Given the description of an element on the screen output the (x, y) to click on. 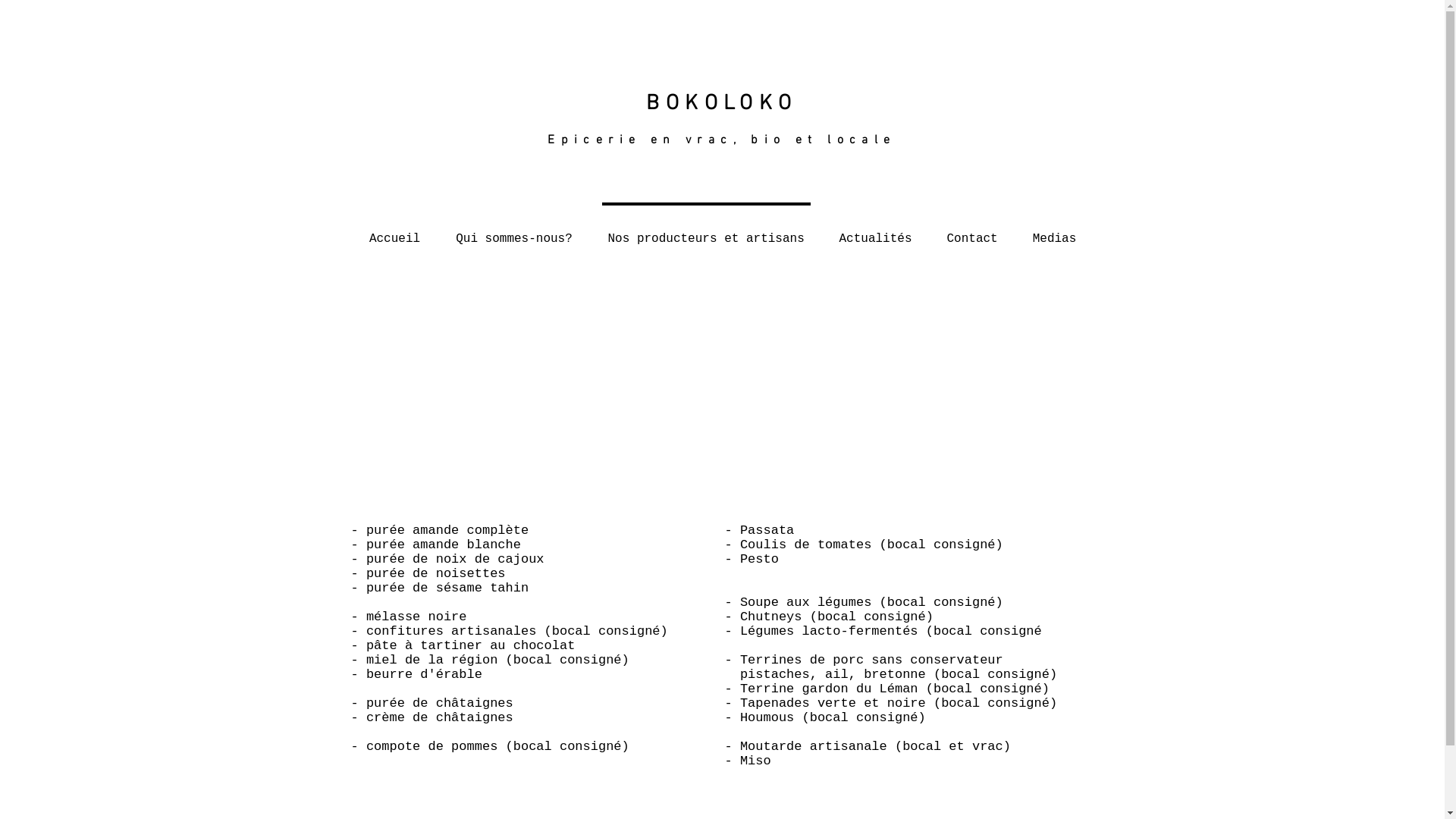
Accueil Element type: text (394, 231)
Medias Element type: text (1053, 231)
Nos producteurs et artisans Element type: text (705, 231)
Qui sommes-nous? Element type: text (514, 231)
BOKOLOKO
Epicerie en vrac, bio et locale Element type: text (721, 120)
Contact Element type: text (972, 231)
